Given the description of an element on the screen output the (x, y) to click on. 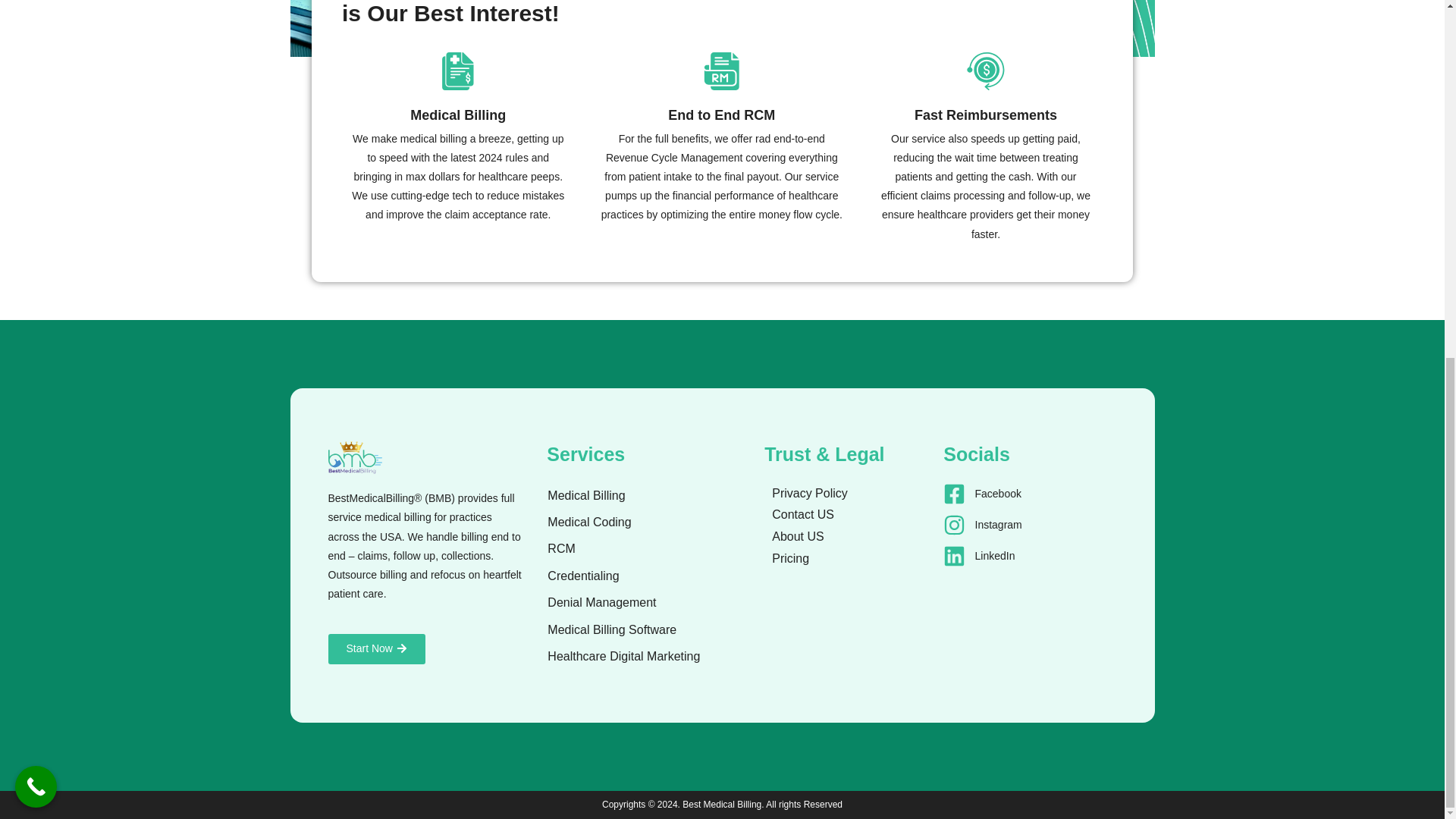
wpforms-submit (722, 6)
